Given the description of an element on the screen output the (x, y) to click on. 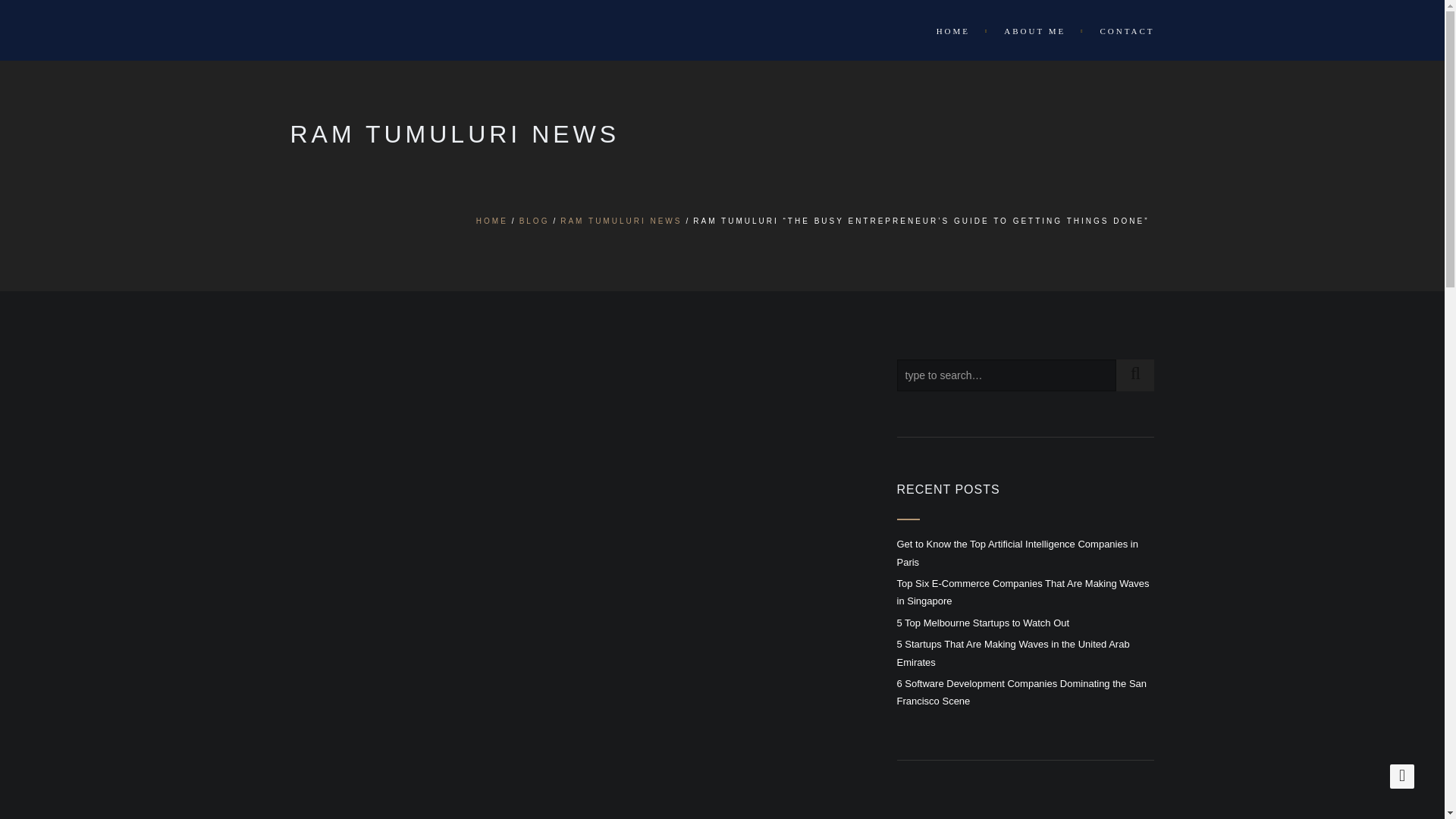
BLOG (534, 221)
RAM TUMULURI NEWS (620, 221)
5 Startups That Are Making Waves in the United Arab Emirates (1012, 652)
5 Top Melbourne Startups to Watch Out (982, 622)
About Me (1036, 30)
HOME (955, 30)
Contact (1119, 30)
HOME (492, 221)
CONTACT (1119, 30)
ABOUT ME (1036, 30)
Home (955, 30)
